Given the description of an element on the screen output the (x, y) to click on. 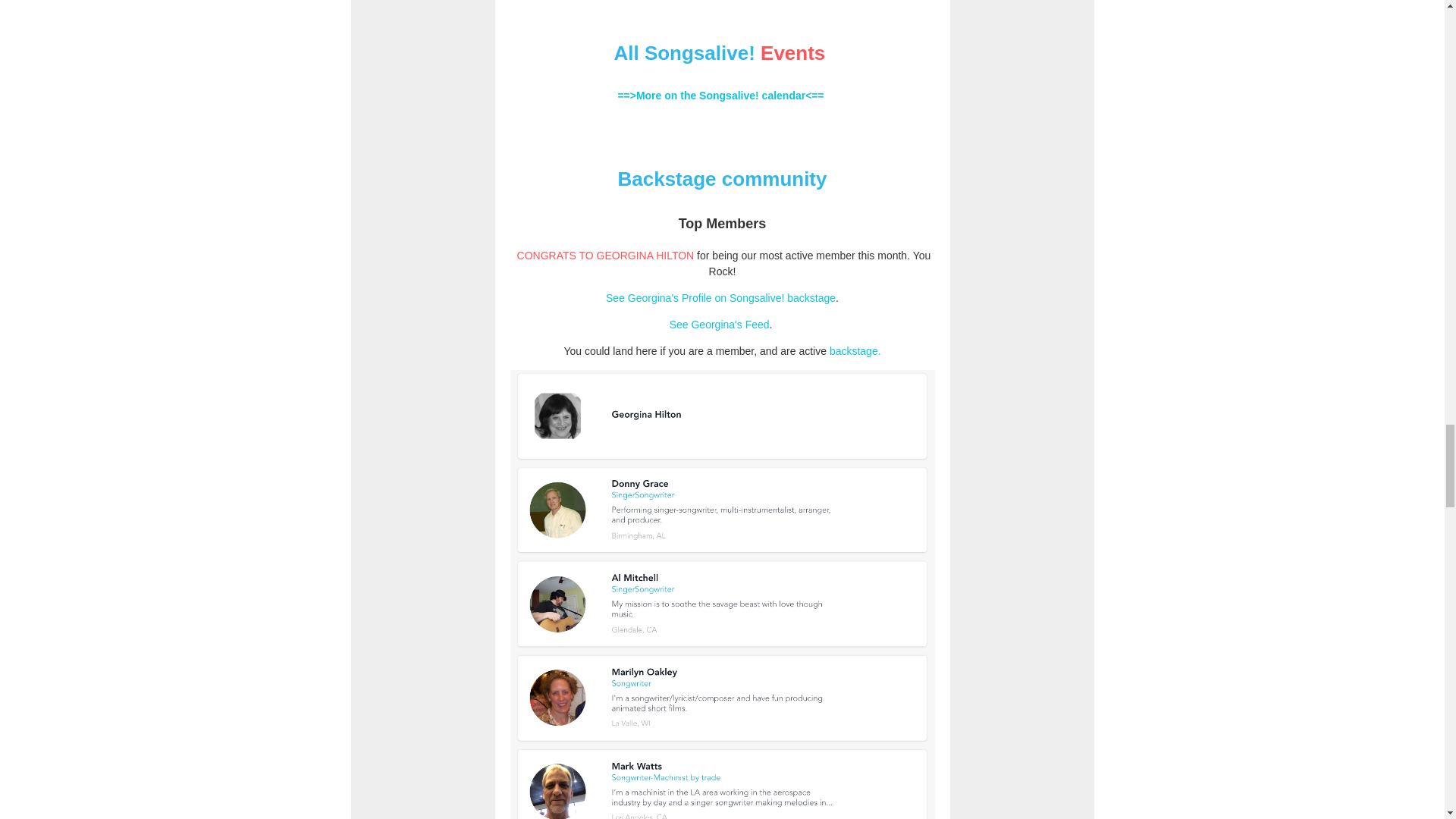
See Georgina's Profile on Songsalive! backstage (720, 297)
See Georgina's Feed (719, 324)
backstage. (854, 350)
